Given the description of an element on the screen output the (x, y) to click on. 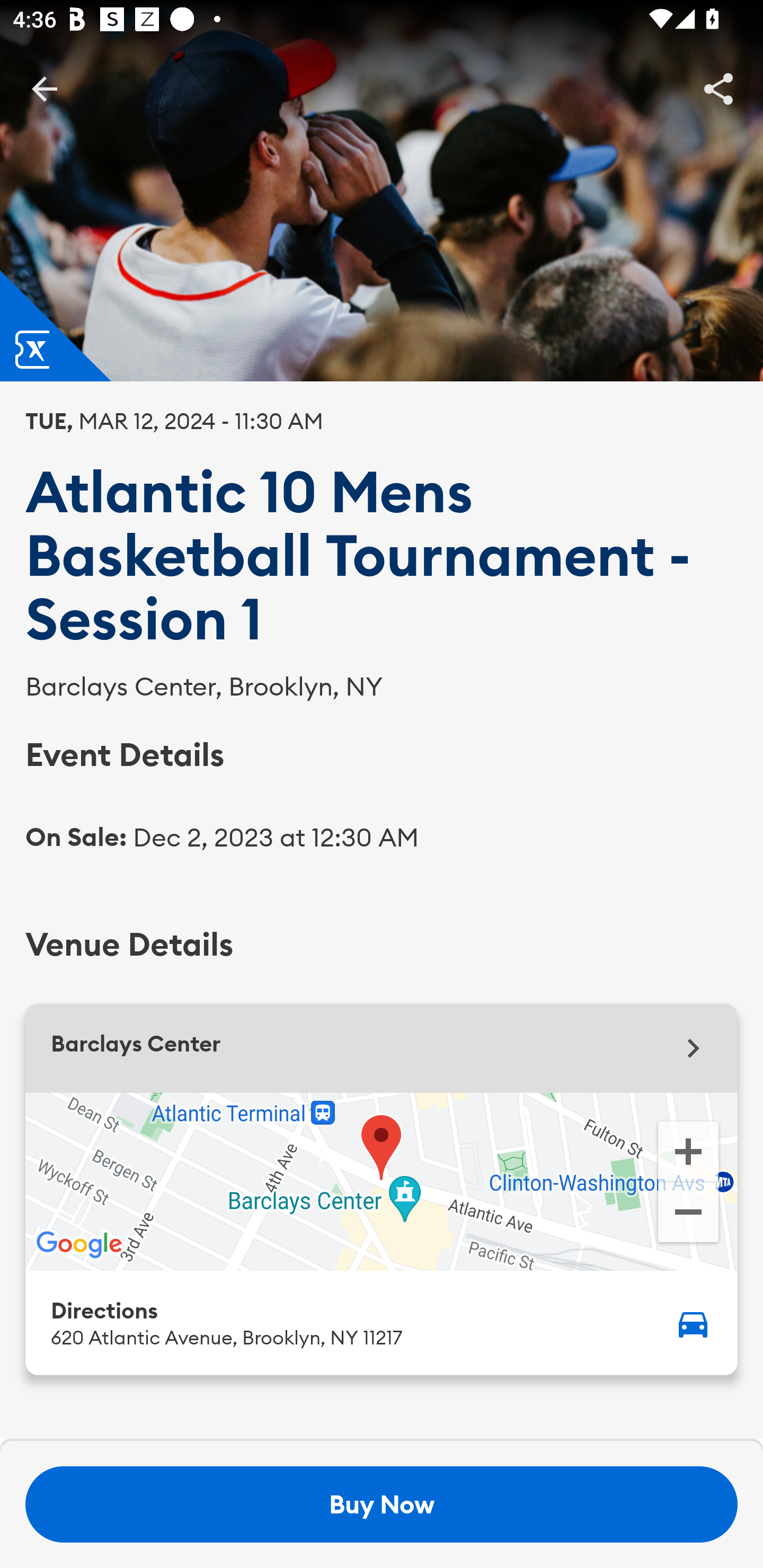
BackButton (44, 88)
Share (718, 88)
Barclays Center (381, 1047)
Google Map Barclays Center.  Zoom in Zoom out (381, 1181)
Zoom in (687, 1149)
Zoom out (687, 1214)
Directions 620 Atlantic Avenue, Brooklyn, NY 11217 (381, 1322)
Buy Now (381, 1504)
